Given the description of an element on the screen output the (x, y) to click on. 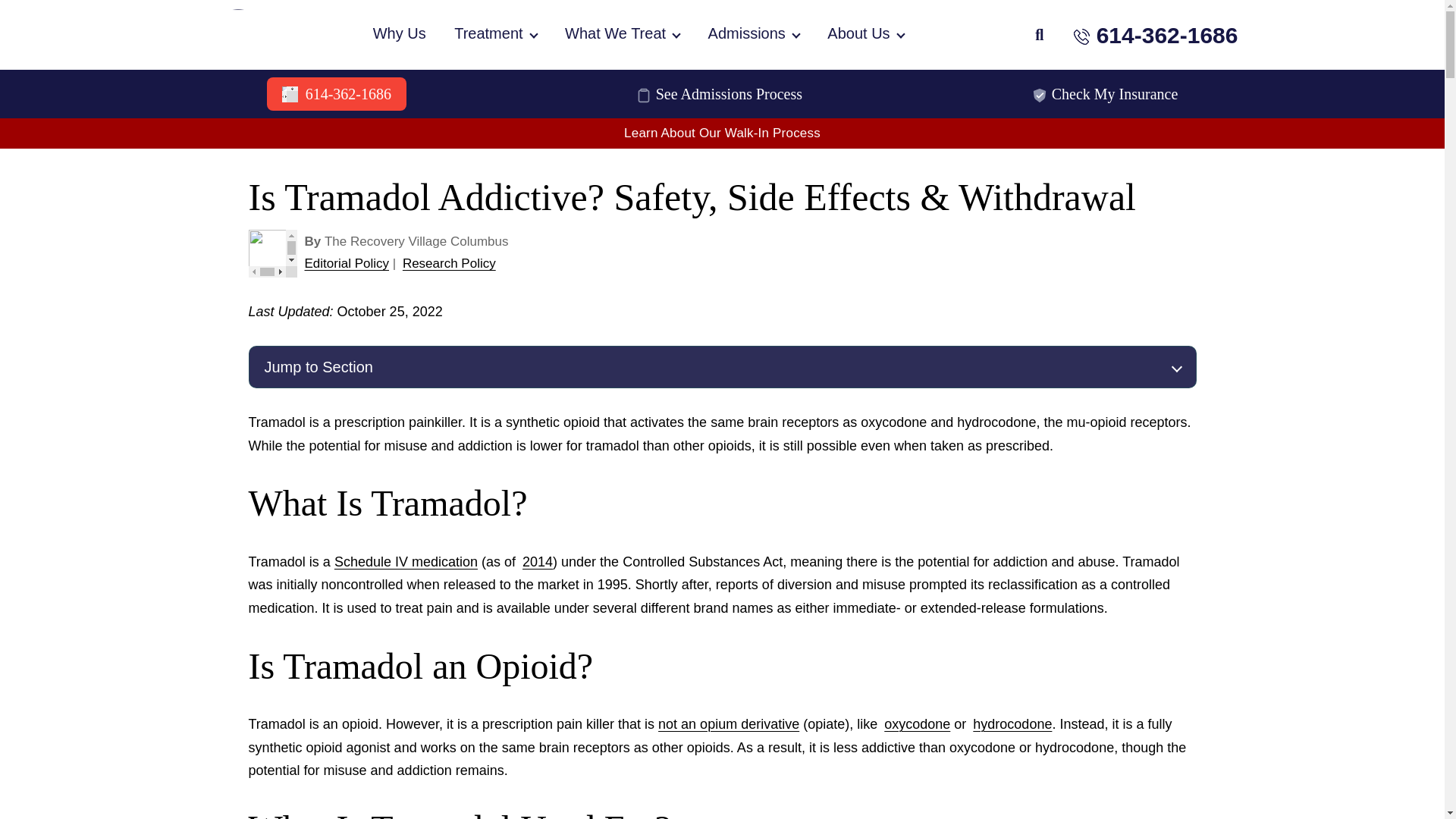
What We Treat (621, 34)
Admissions (753, 34)
Treatment (494, 34)
Why Us (399, 34)
About Us (864, 34)
